Given the description of an element on the screen output the (x, y) to click on. 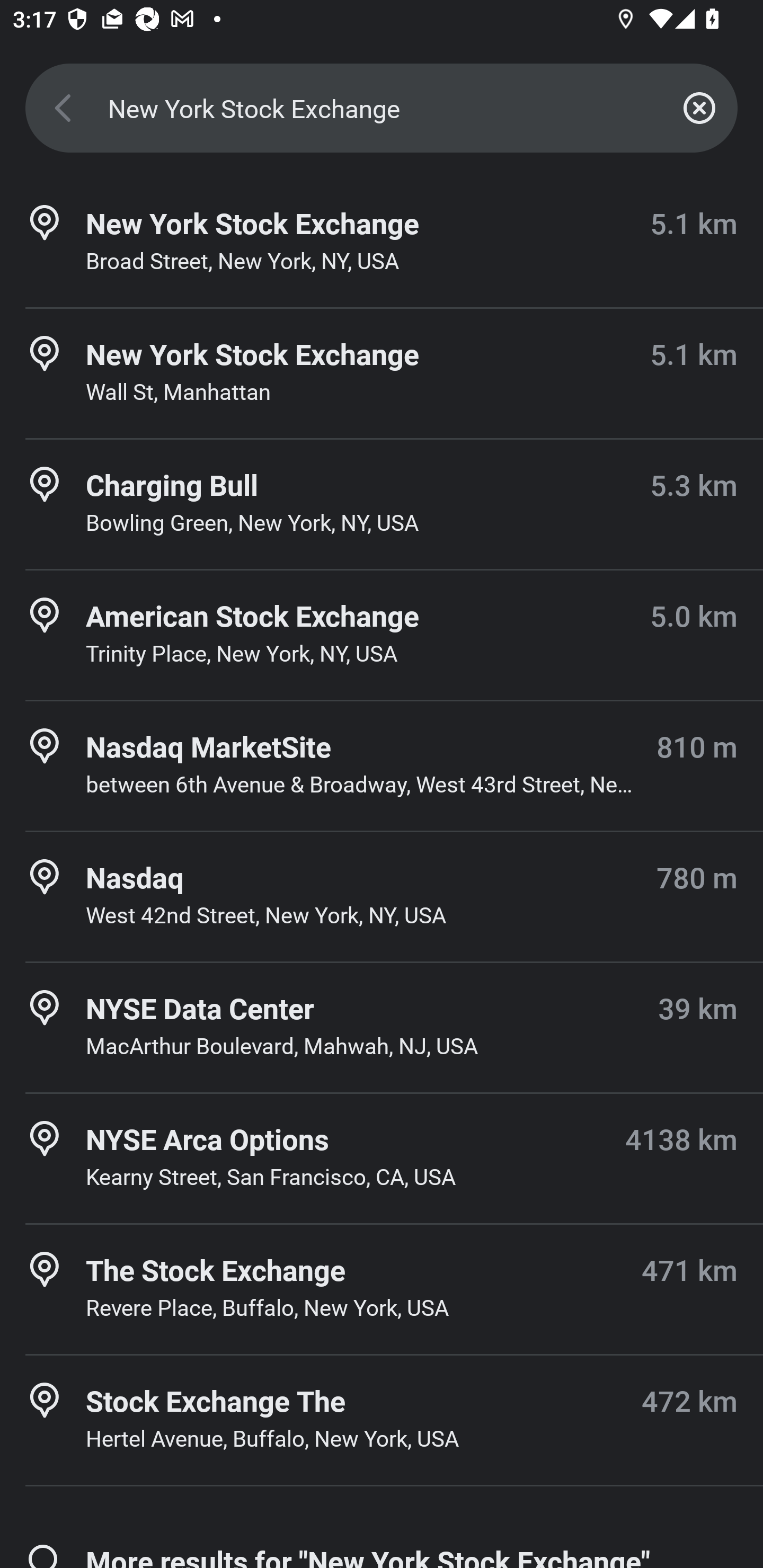
New York Stock Exchange SEARCH_SCREEN_SEARCH_FIELD (381, 108)
New York Stock Exchange 5.1 km Wall St, Manhattan (381, 372)
Nasdaq 780 m West 42nd Street, New York, NY, USA (381, 896)
